Given the description of an element on the screen output the (x, y) to click on. 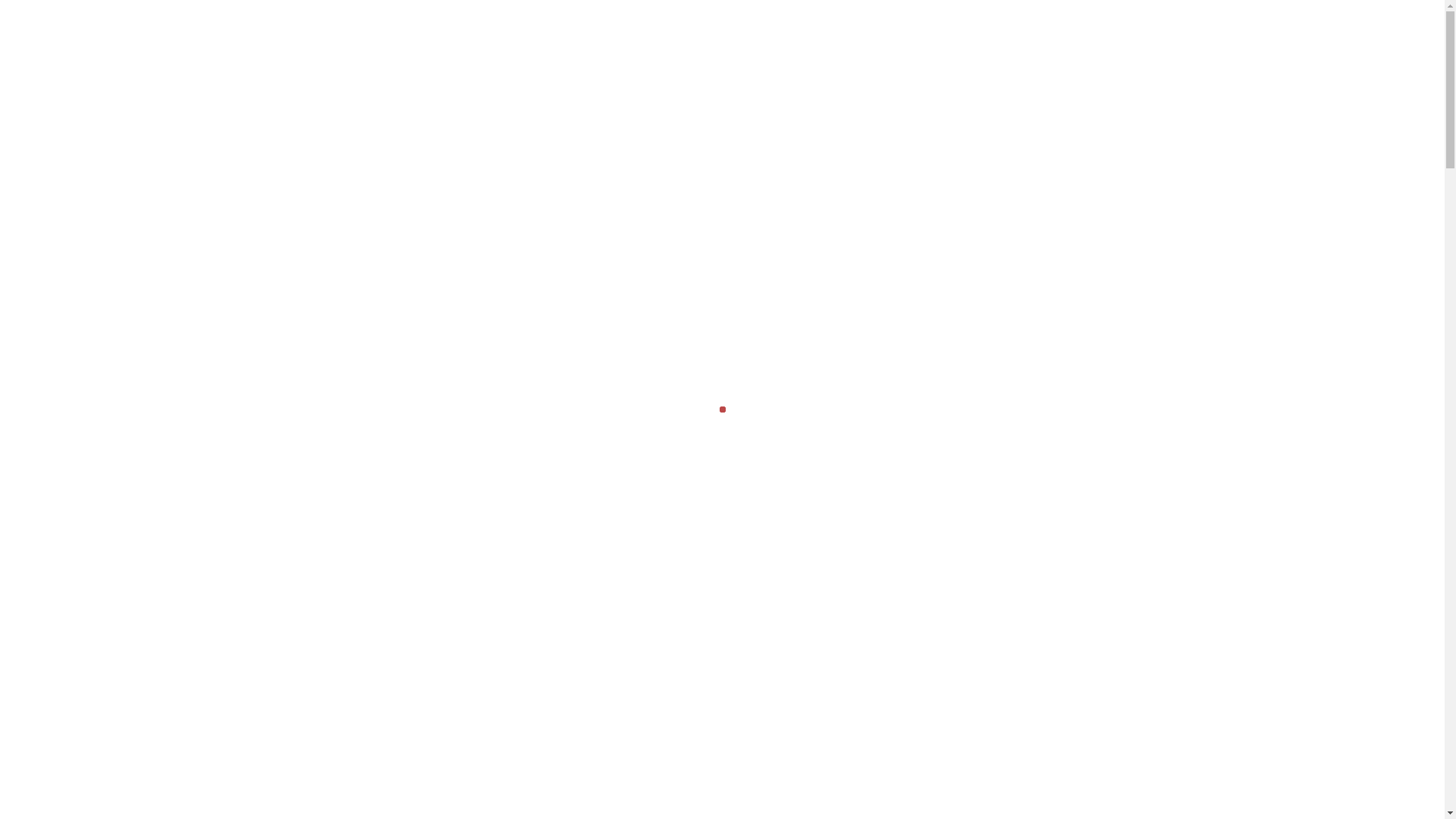
Contact Element type: text (1132, 48)
Testimonials Element type: text (893, 48)
Project Partners Element type: text (1019, 48)
About Element type: text (585, 48)
What We Do Element type: text (680, 48)
Our Work Element type: text (787, 48)
